Given the description of an element on the screen output the (x, y) to click on. 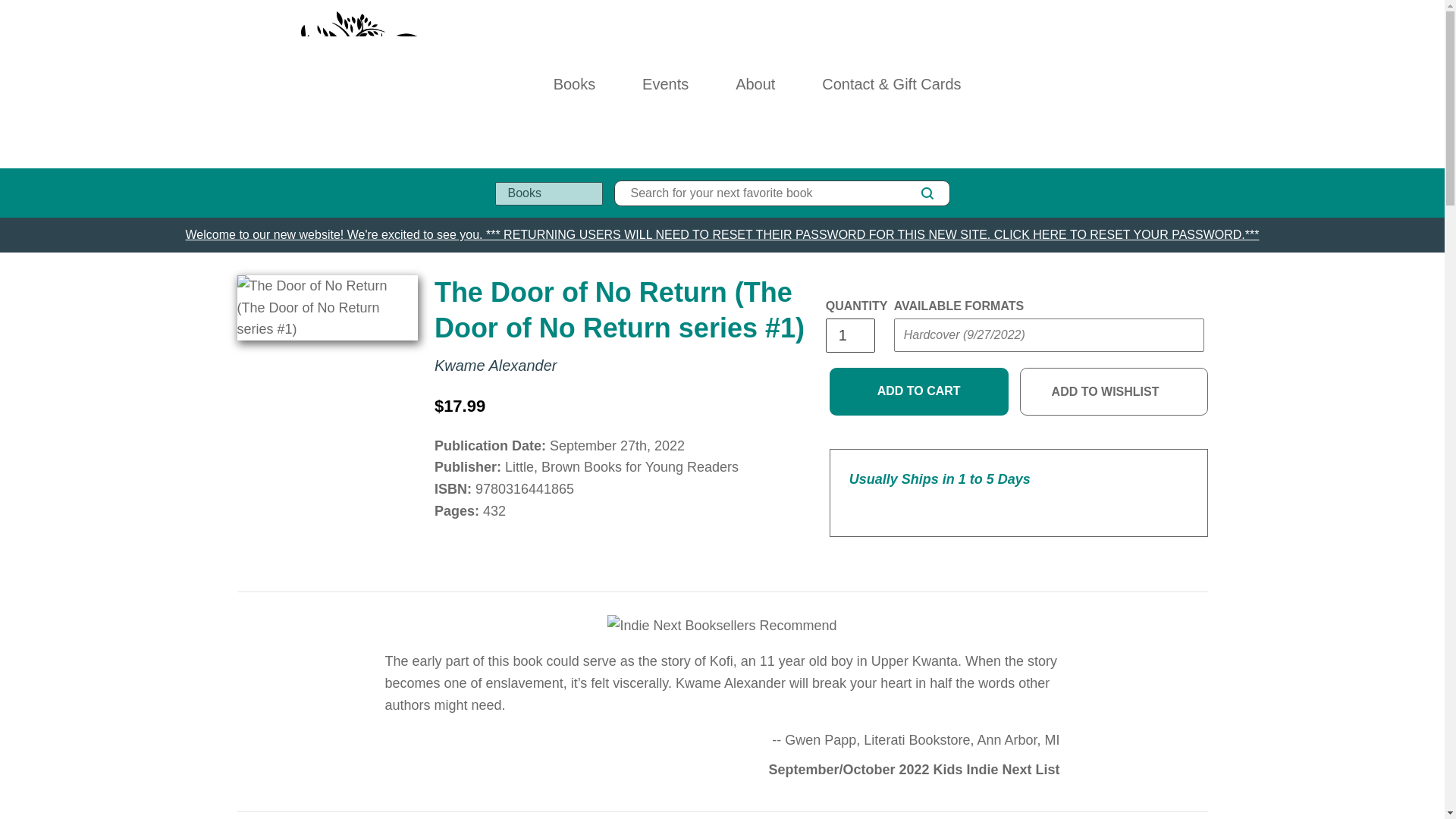
1 (850, 335)
ADD TO WISHLIST (1114, 391)
Books (574, 83)
Log in (1134, 83)
Wishlists (1168, 83)
Cart (1201, 83)
Log in (1134, 83)
Add to cart (919, 391)
Add to cart (919, 391)
